Given the description of an element on the screen output the (x, y) to click on. 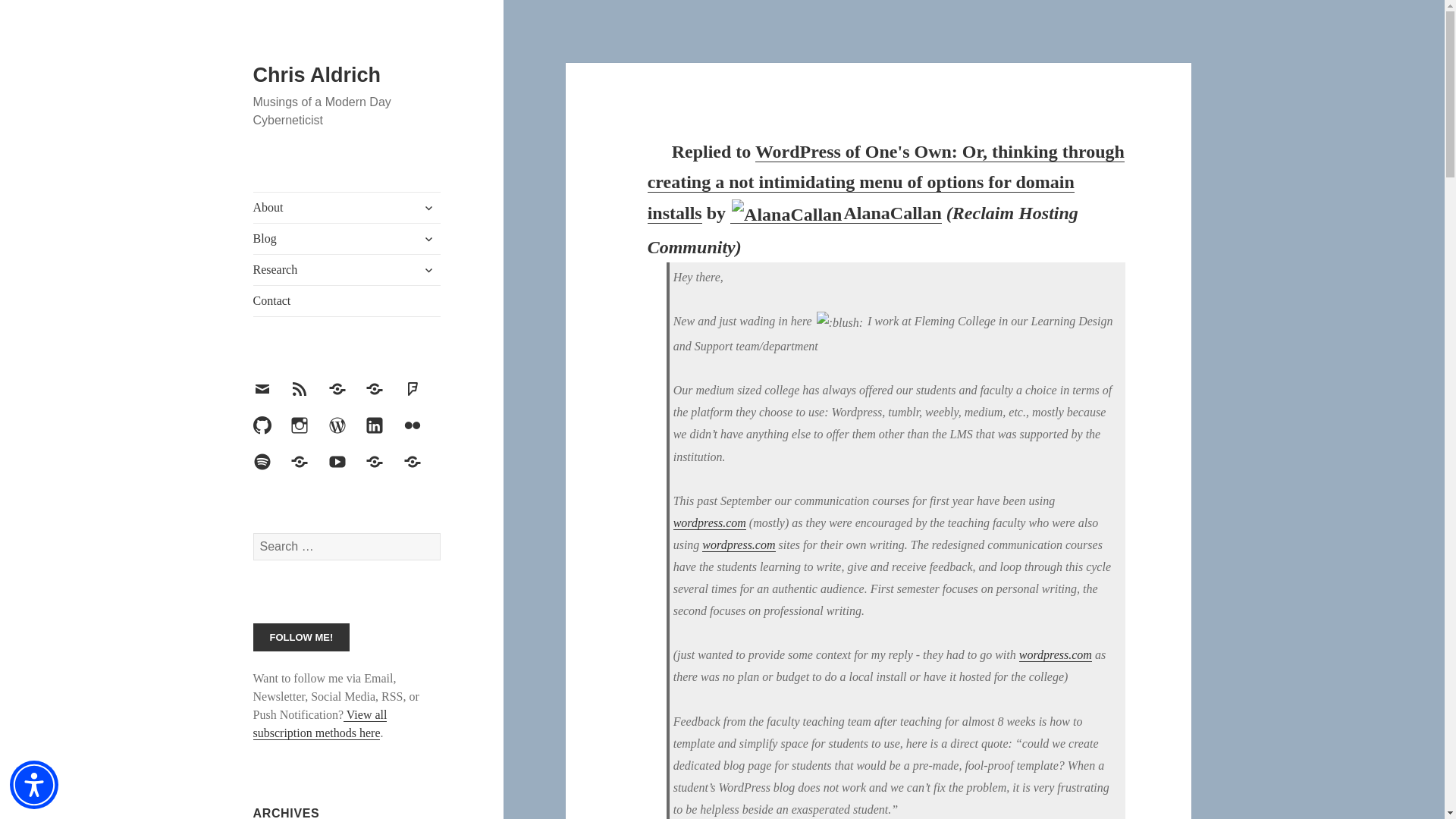
Follow Me! (301, 637)
About (347, 207)
Chris Aldrich (317, 74)
expand child menu (428, 207)
expand child menu (428, 238)
Blog (347, 238)
